Given the description of an element on the screen output the (x, y) to click on. 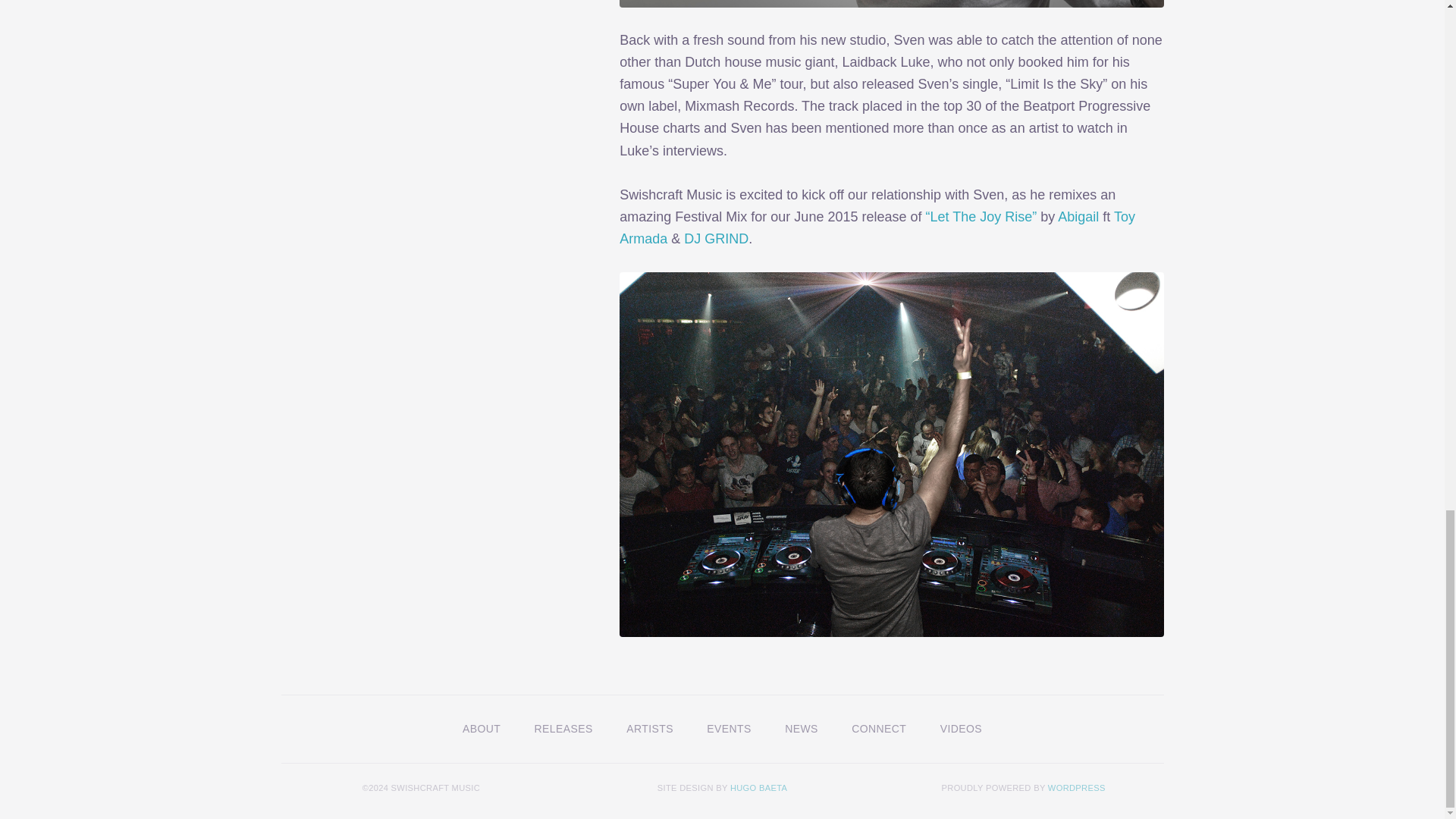
ARTISTS (649, 728)
NEWS (801, 728)
ABOUT (480, 728)
EVENTS (729, 728)
VIDEOS (960, 728)
HUGO BAETA (758, 787)
DJ GRIND (716, 238)
A Semantic Personal Publishing Platform (1076, 787)
Toy Armada (877, 227)
RELEASES (563, 728)
Abigail (1078, 216)
CONNECT (878, 728)
WORDPRESS (1076, 787)
